Given the description of an element on the screen output the (x, y) to click on. 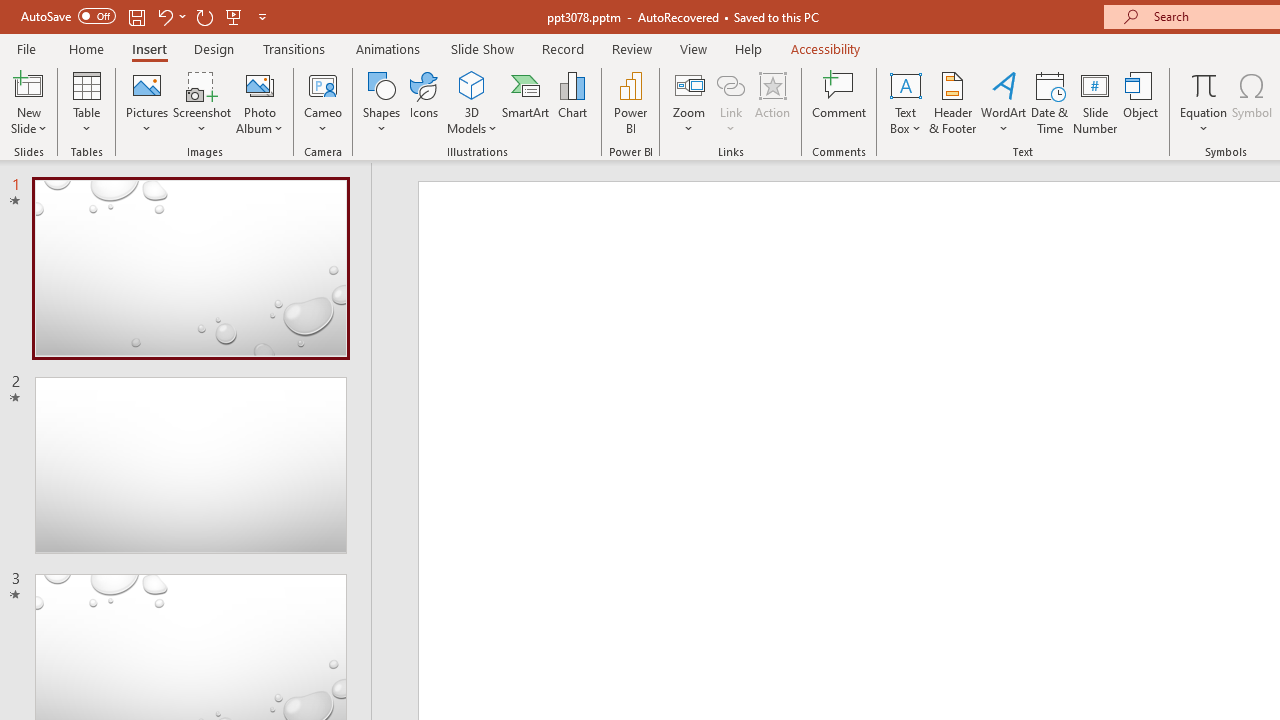
Photo Album... (259, 102)
Slide Number (1095, 102)
Link (731, 102)
